Given the description of an element on the screen output the (x, y) to click on. 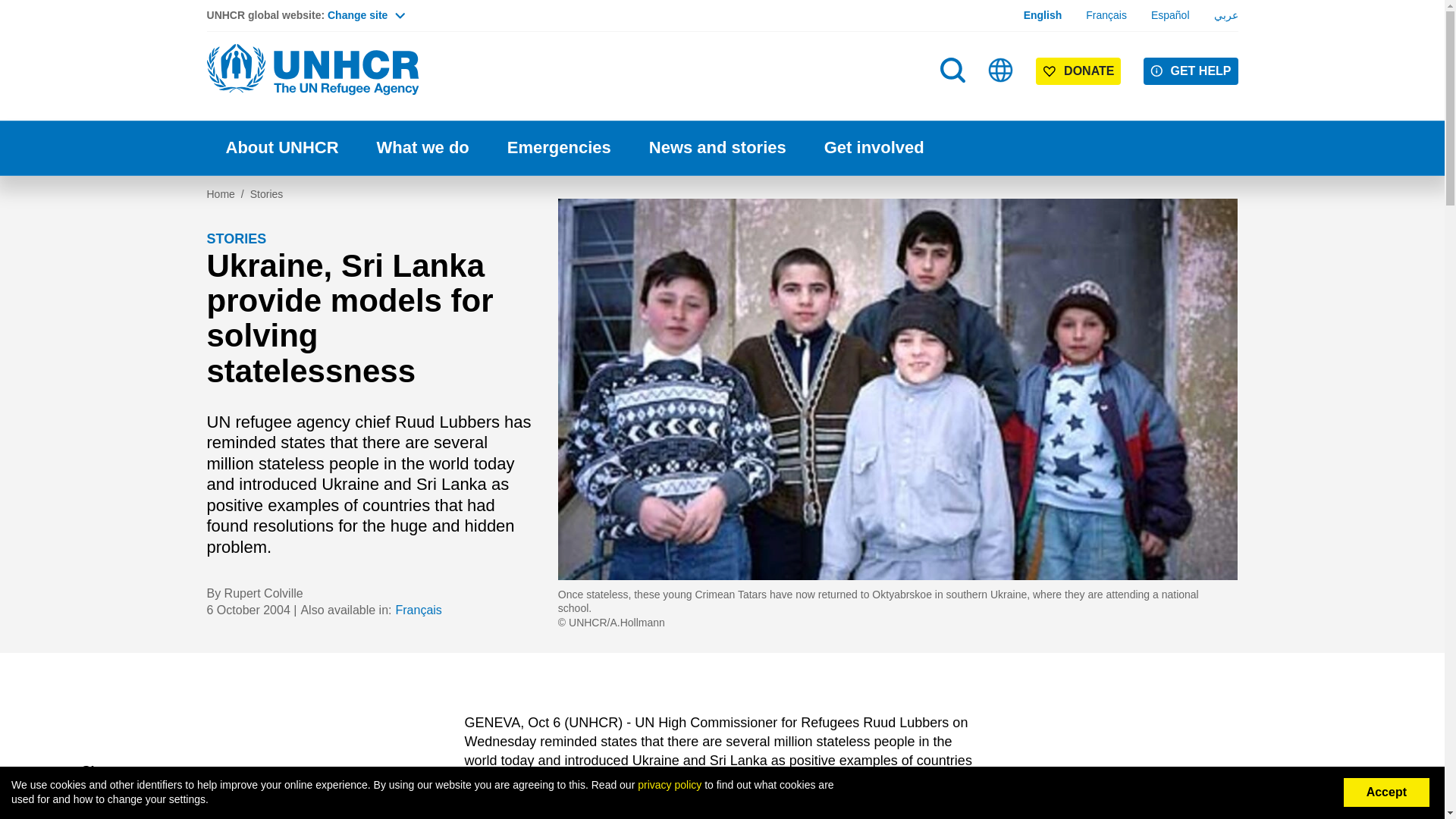
Sites (1000, 69)
GET HELP (1189, 71)
About UNHCR (281, 148)
English (1042, 15)
Search (954, 99)
Search (952, 69)
DONATE (1078, 71)
Home (312, 69)
Skip to main content (721, 1)
Change site (365, 15)
